Given the description of an element on the screen output the (x, y) to click on. 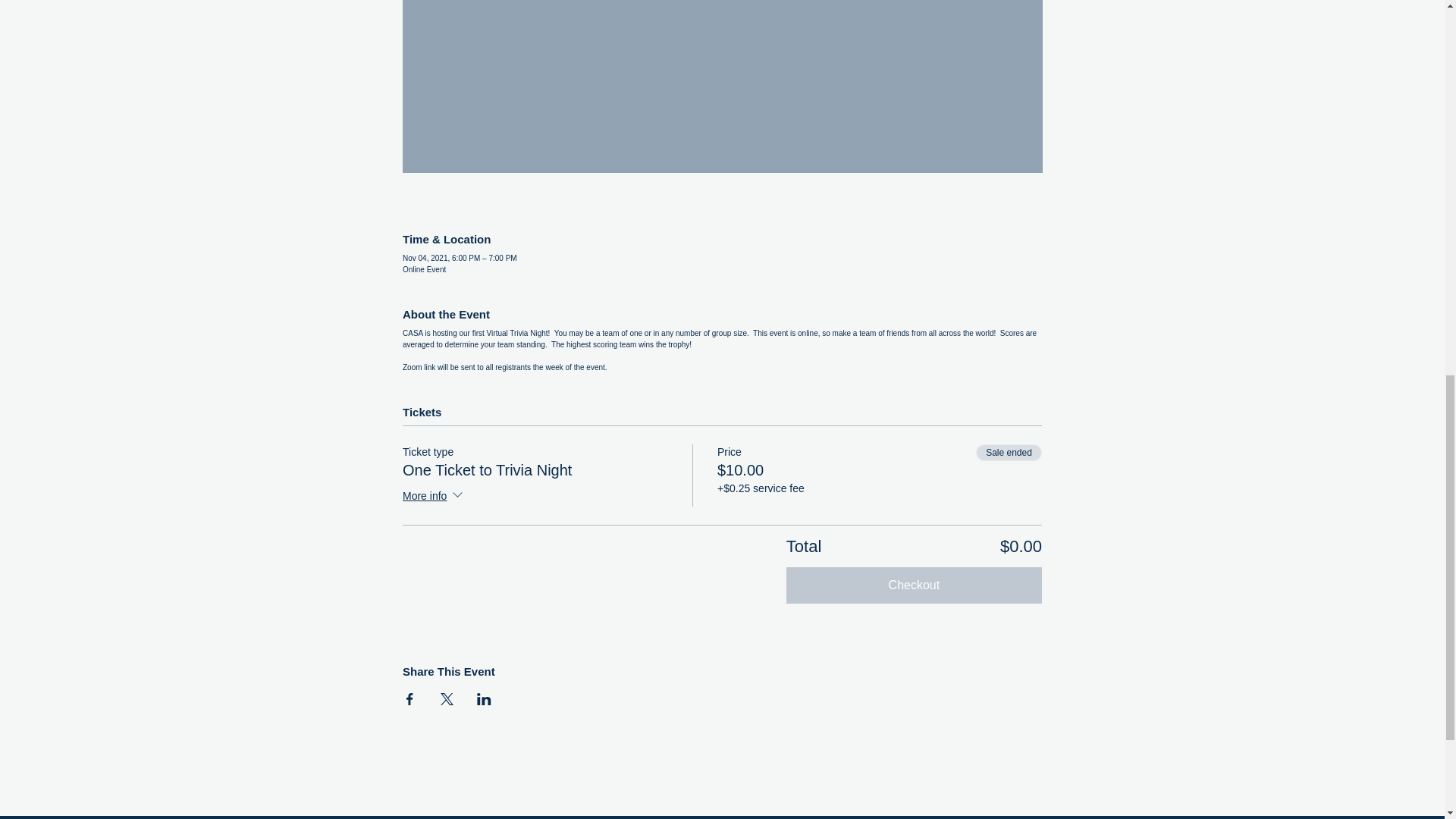
Checkout (914, 585)
More info (434, 496)
